Given the description of an element on the screen output the (x, y) to click on. 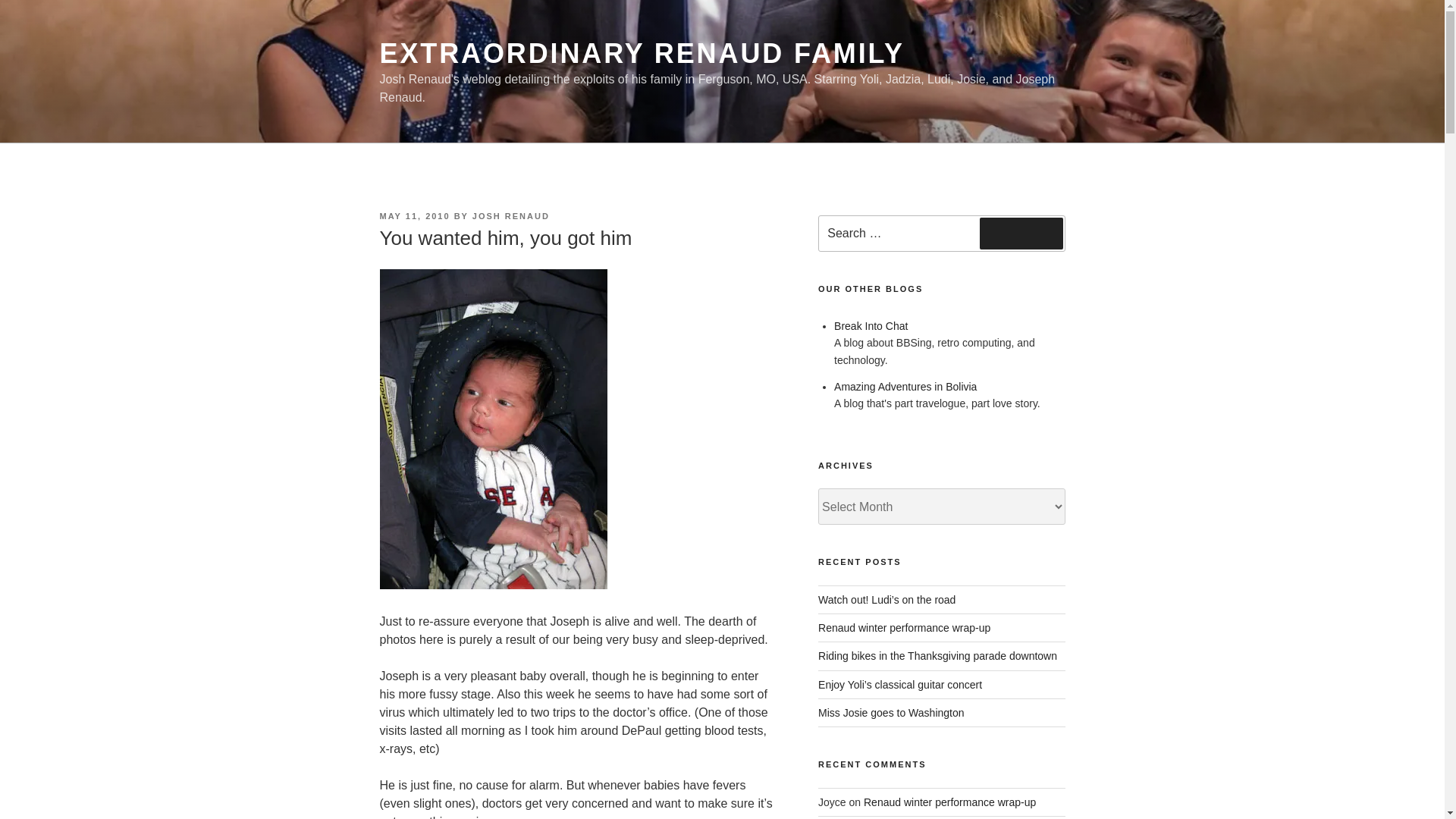
Renaud winter performance wrap-up (904, 627)
Search (1020, 233)
Amazing Adventures in Bolivia (905, 386)
EXTRAORDINARY RENAUD FAMILY (641, 52)
MAY 11, 2010 (413, 215)
JOSH RENAUD (510, 215)
Miss Josie goes to Washington (890, 712)
Riding bikes in the Thanksgiving parade downtown (937, 655)
Renaud winter performance wrap-up (949, 802)
Break Into Chat (870, 326)
